Given the description of an element on the screen output the (x, y) to click on. 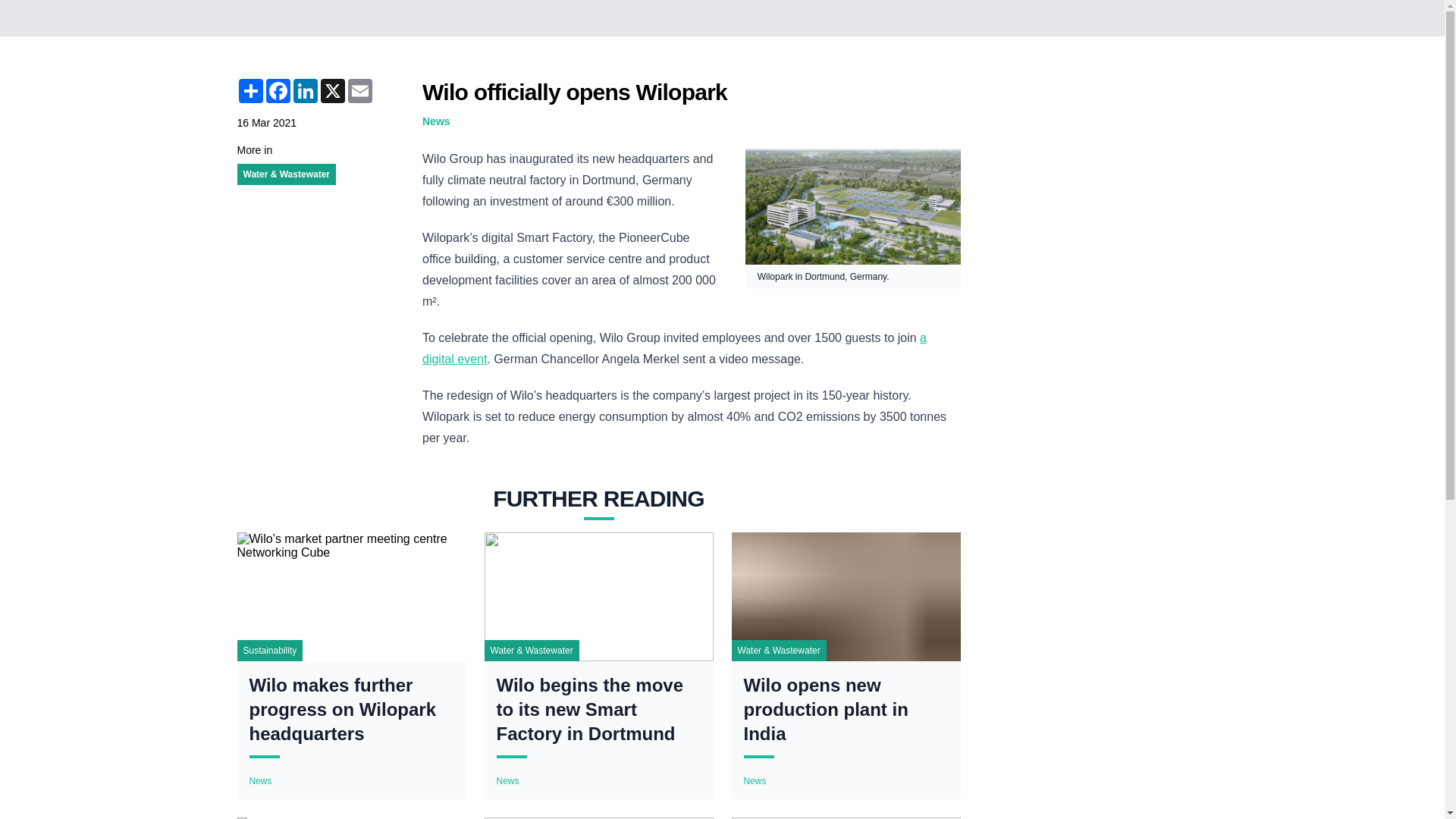
LinkedIn (304, 90)
Email (359, 90)
X (332, 90)
Share (249, 90)
Facebook (277, 90)
